Given the description of an element on the screen output the (x, y) to click on. 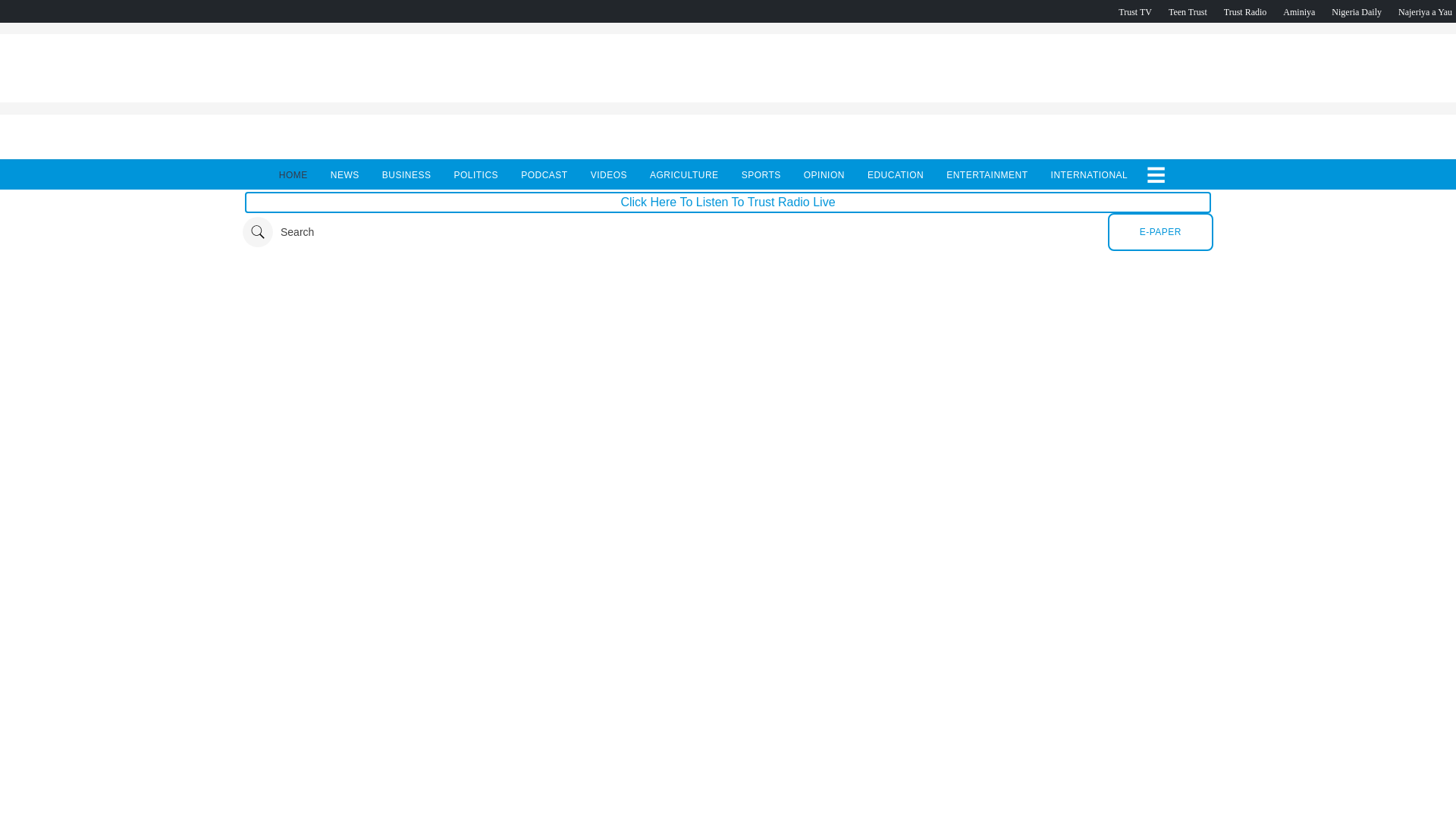
HOME (293, 174)
Search (278, 232)
Trust TV (1134, 11)
Saurari Shirye Shiryenmu (1424, 11)
Trust Radio Live (1245, 11)
Teen Trust (1188, 11)
Podcast (1356, 11)
E-Paper Subscription (1160, 231)
Nigeria Daily (1356, 11)
Najeriya a Yau (1424, 11)
